Given the description of an element on the screen output the (x, y) to click on. 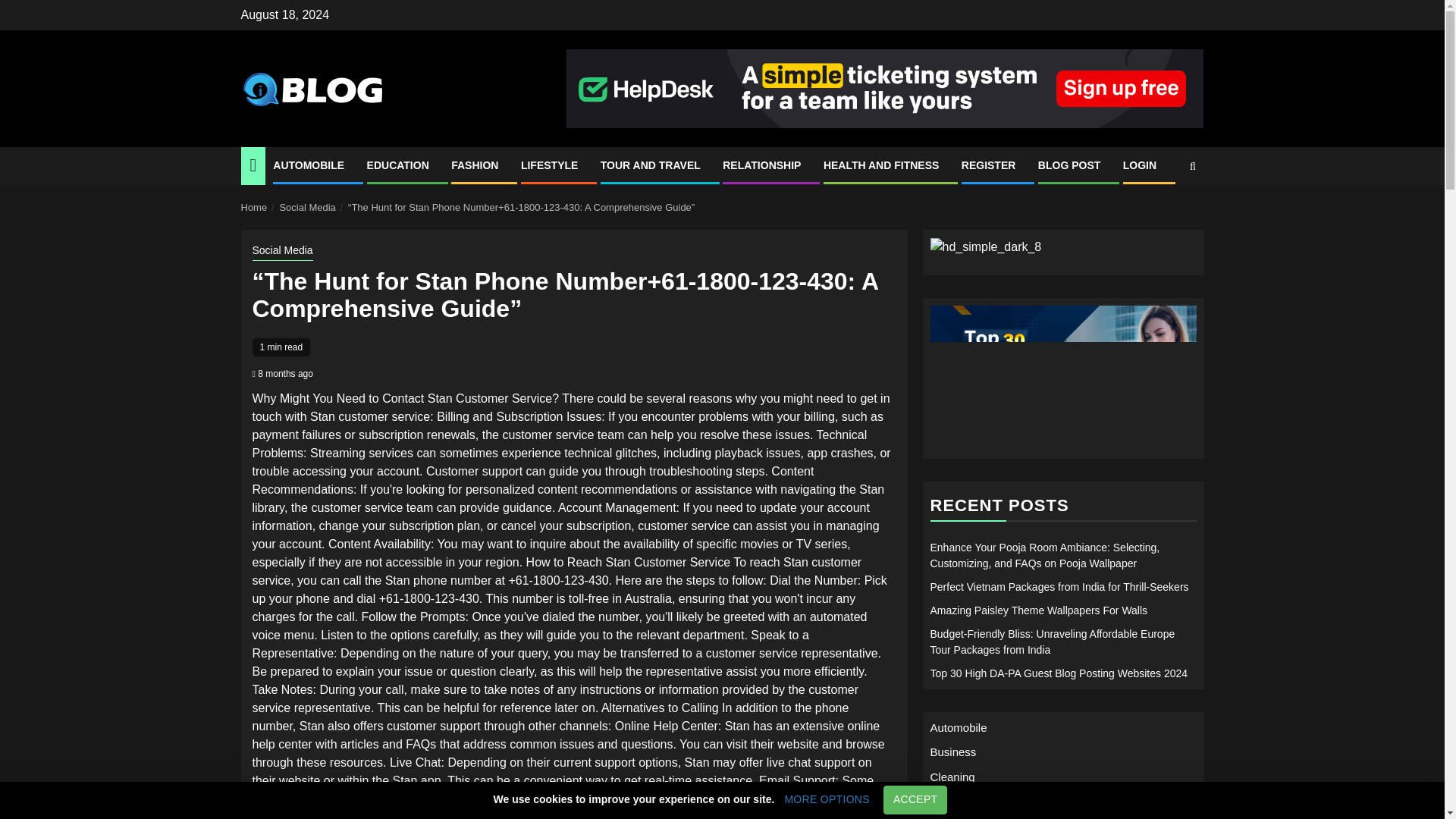
AUTOMOBILE (308, 164)
LOGIN (1139, 164)
LIFESTYLE (549, 164)
Social Media (306, 206)
TOUR AND TRAVEL (649, 164)
REGISTER (988, 164)
RELATIONSHIP (761, 164)
Social Media (282, 251)
EDUCATION (397, 164)
Search (1163, 211)
